Given the description of an element on the screen output the (x, y) to click on. 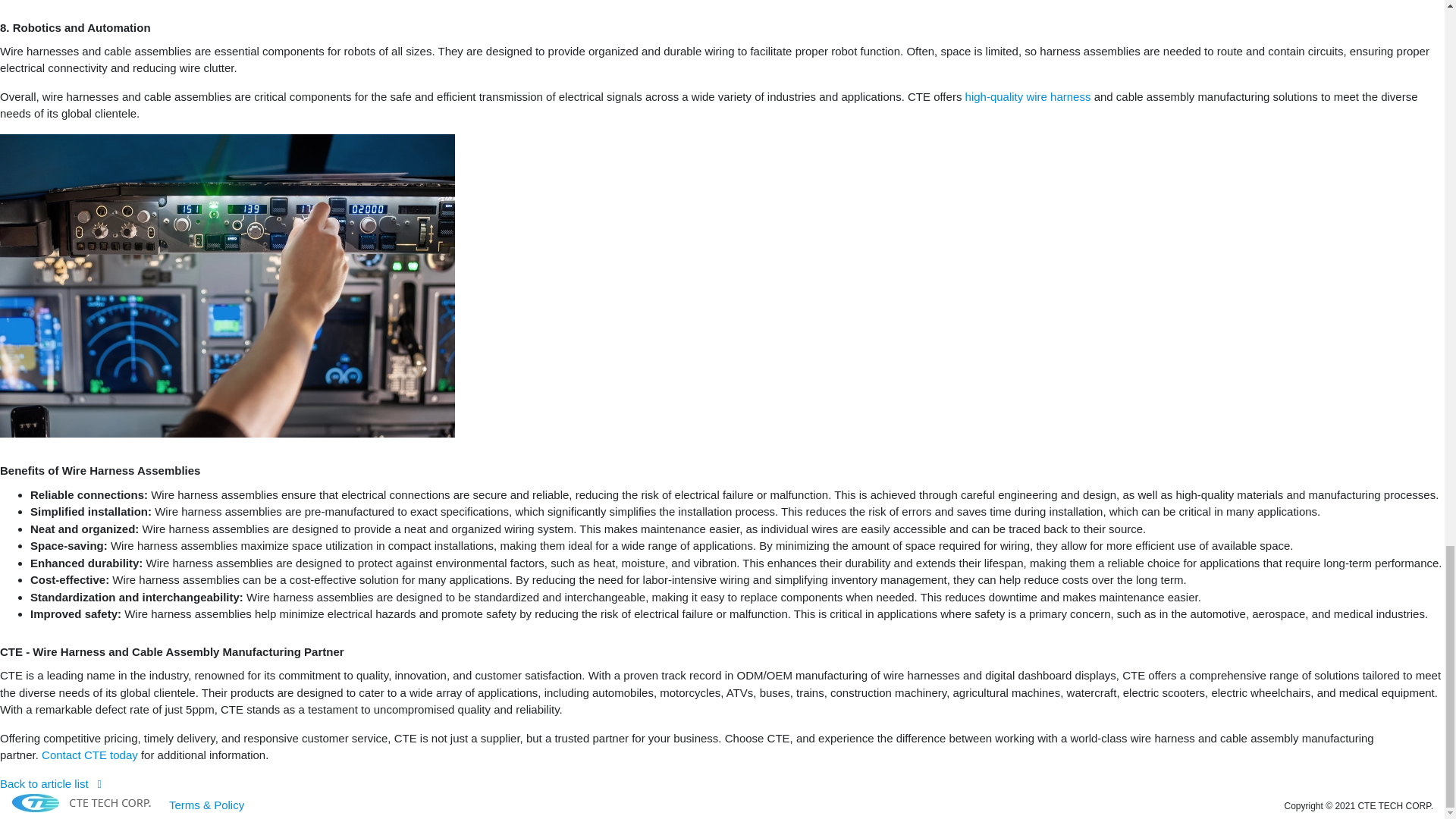
high-quality wire harness (1027, 96)
Contact CTE today (90, 754)
Back to article list (50, 783)
